Given the description of an element on the screen output the (x, y) to click on. 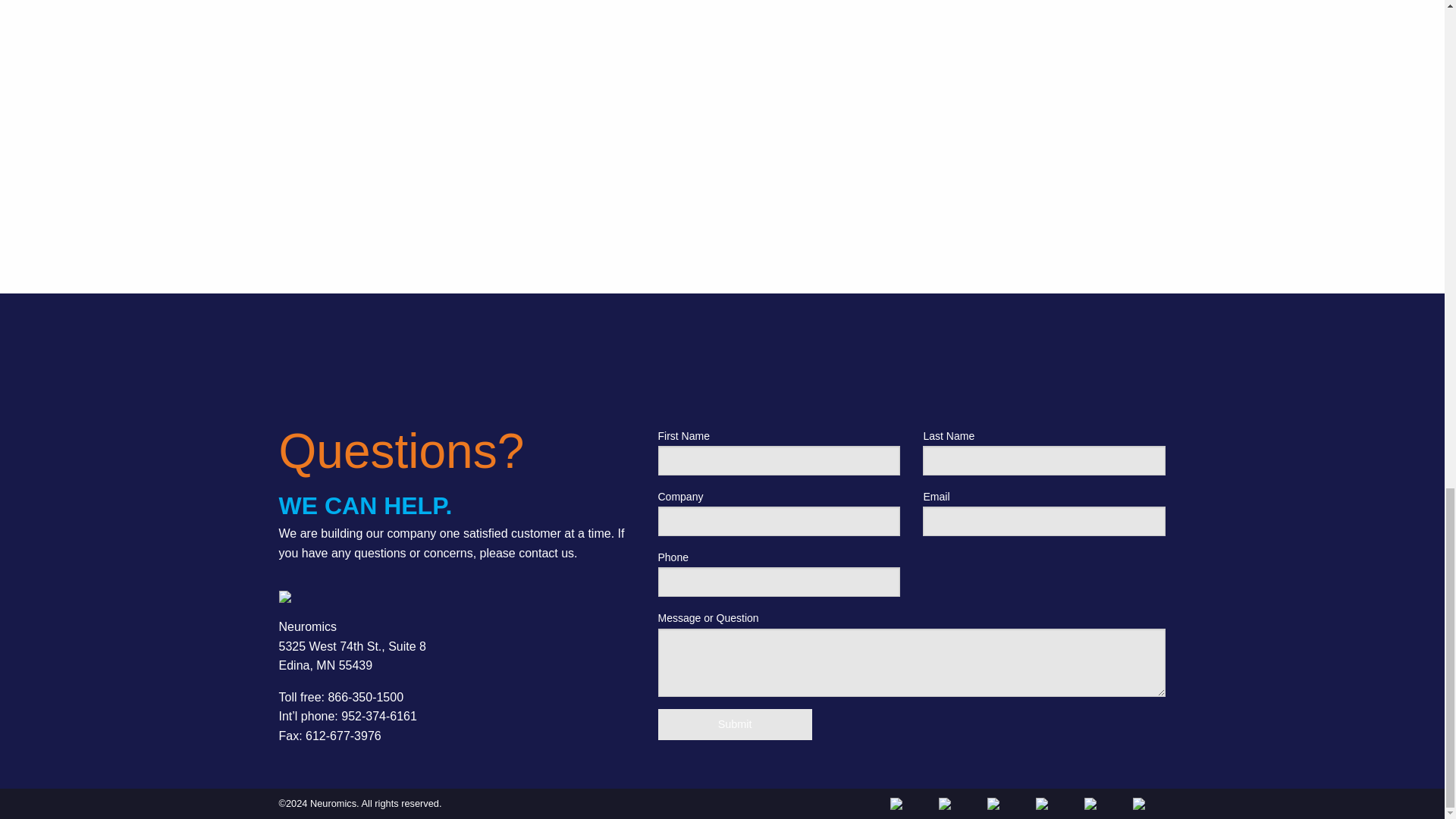
Submit (735, 724)
